Given the description of an element on the screen output the (x, y) to click on. 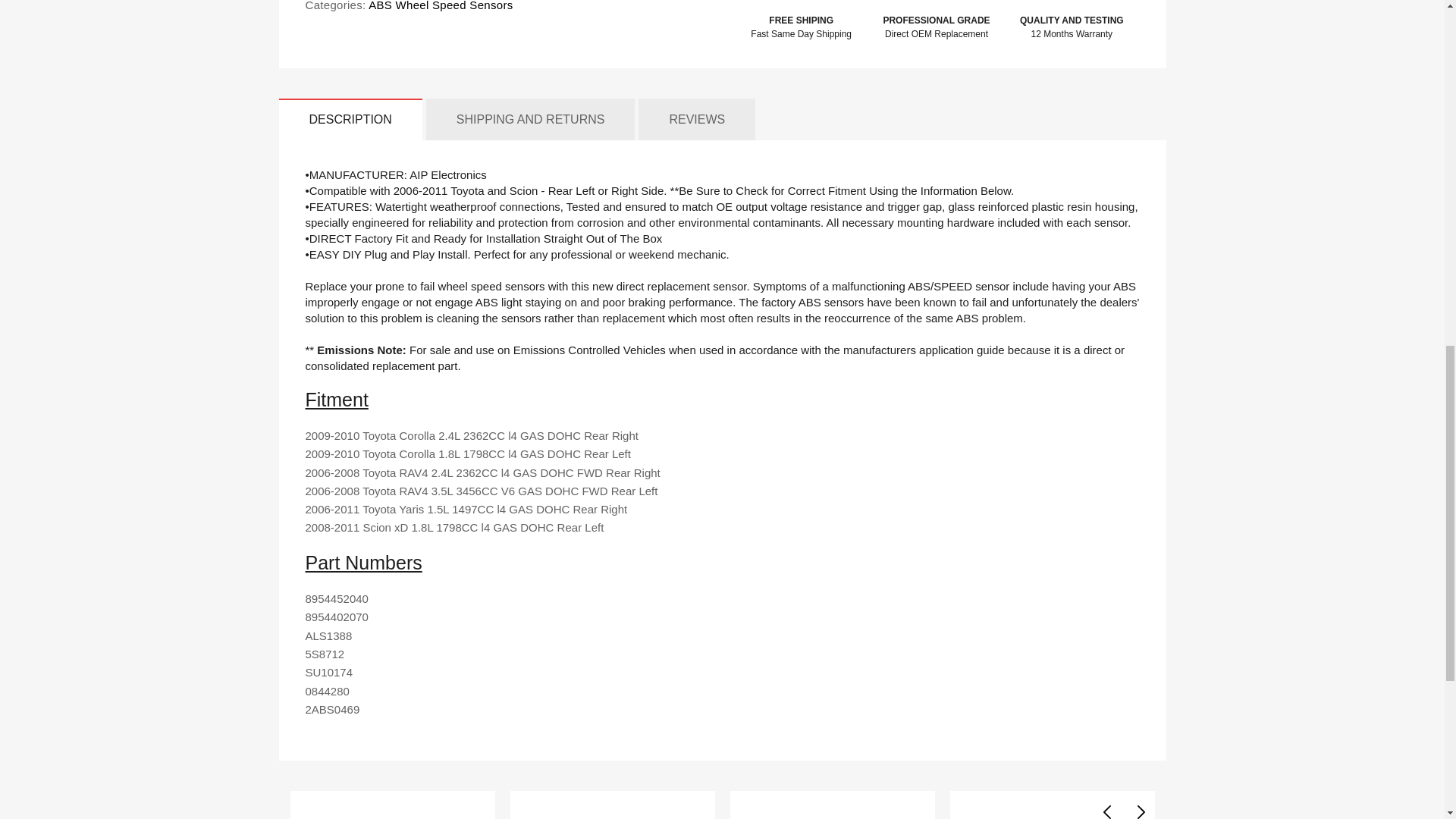
ABS Wheel Speed Sensors (439, 5)
